Given the description of an element on the screen output the (x, y) to click on. 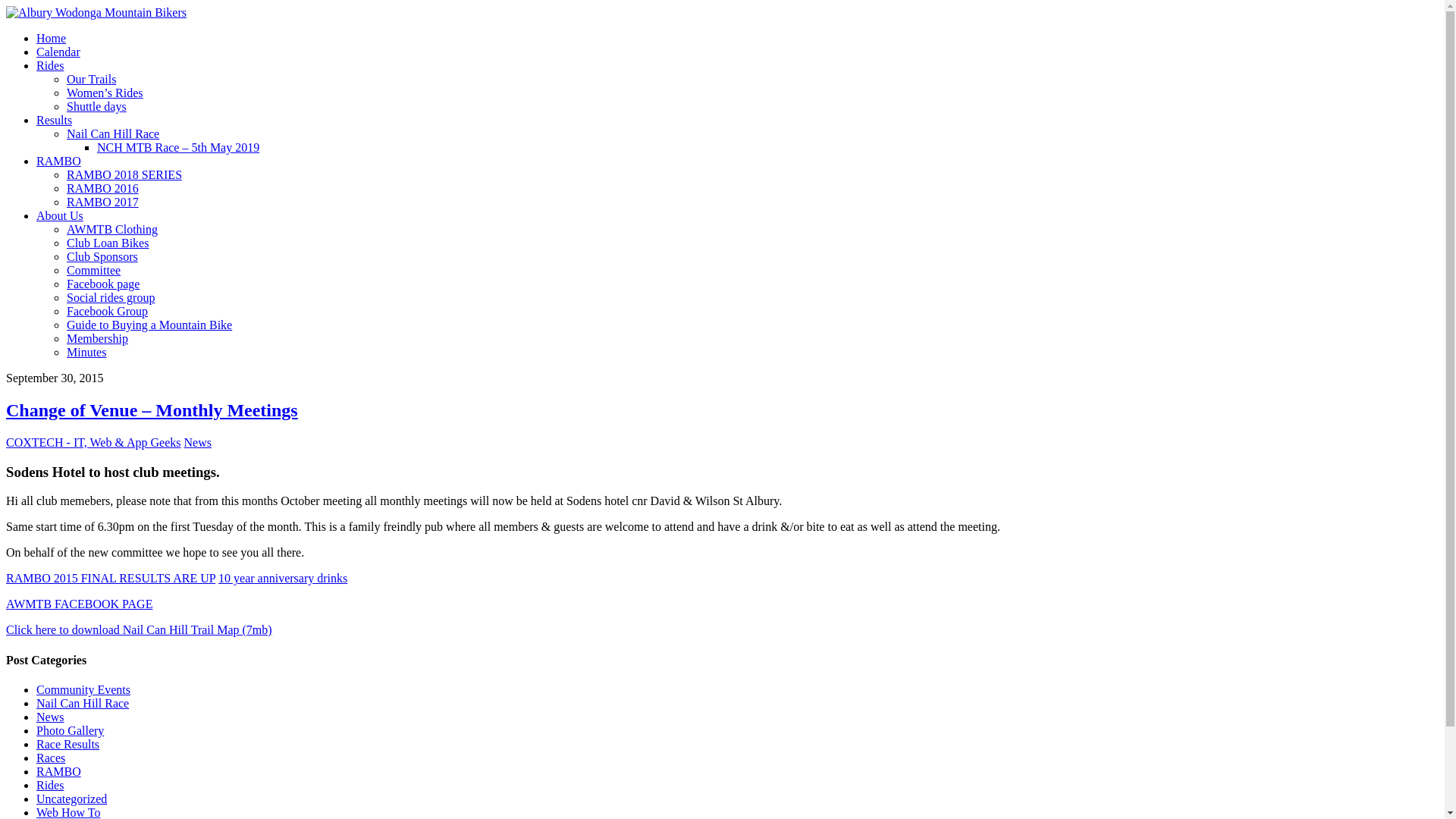
News Element type: text (49, 716)
Nail Can Hill Race Element type: text (112, 133)
Social rides group Element type: text (110, 297)
Membership Element type: text (97, 338)
Rides Element type: text (49, 65)
Minutes Element type: text (86, 351)
RAMBO Element type: text (58, 160)
Calendar Element type: text (58, 51)
10 year anniversary drinks Element type: text (282, 577)
Our Trails Element type: text (91, 78)
Club Loan Bikes Element type: text (107, 242)
Rides Element type: text (49, 784)
Nail Can Hill Race Element type: text (82, 702)
Albury Wodonga Mountain Bikers Element type: hover (96, 12)
Guide to Buying a Mountain Bike Element type: text (149, 324)
Uncategorized Element type: text (71, 798)
About Us Element type: text (59, 215)
Club Sponsors Element type: text (102, 256)
RAMBO Element type: text (58, 771)
RAMBO 2018 SERIES Element type: text (124, 174)
Race Results Element type: text (67, 743)
Home Element type: text (50, 37)
COXTECH - IT, Web & App Geeks Element type: text (93, 442)
News Element type: text (197, 442)
Shuttle days Element type: text (96, 106)
Facebook Group Element type: text (106, 310)
RAMBO 2017 Element type: text (102, 201)
Photo Gallery Element type: text (69, 730)
Community Events Element type: text (83, 689)
Results Element type: text (54, 119)
Facebook page Element type: text (102, 283)
Committee Element type: text (93, 269)
AWMTB FACEBOOK PAGE Element type: text (79, 603)
Races Element type: text (50, 757)
Click here to download Nail Can Hill Trail Map (7mb) Element type: text (139, 629)
Albury Wodonga Mountain Bikers Element type: hover (96, 12)
AWMTB Clothing Element type: text (111, 228)
RAMBO 2015 FINAL RESULTS ARE UP Element type: text (110, 577)
RAMBO 2016 Element type: text (102, 188)
